Given the description of an element on the screen output the (x, y) to click on. 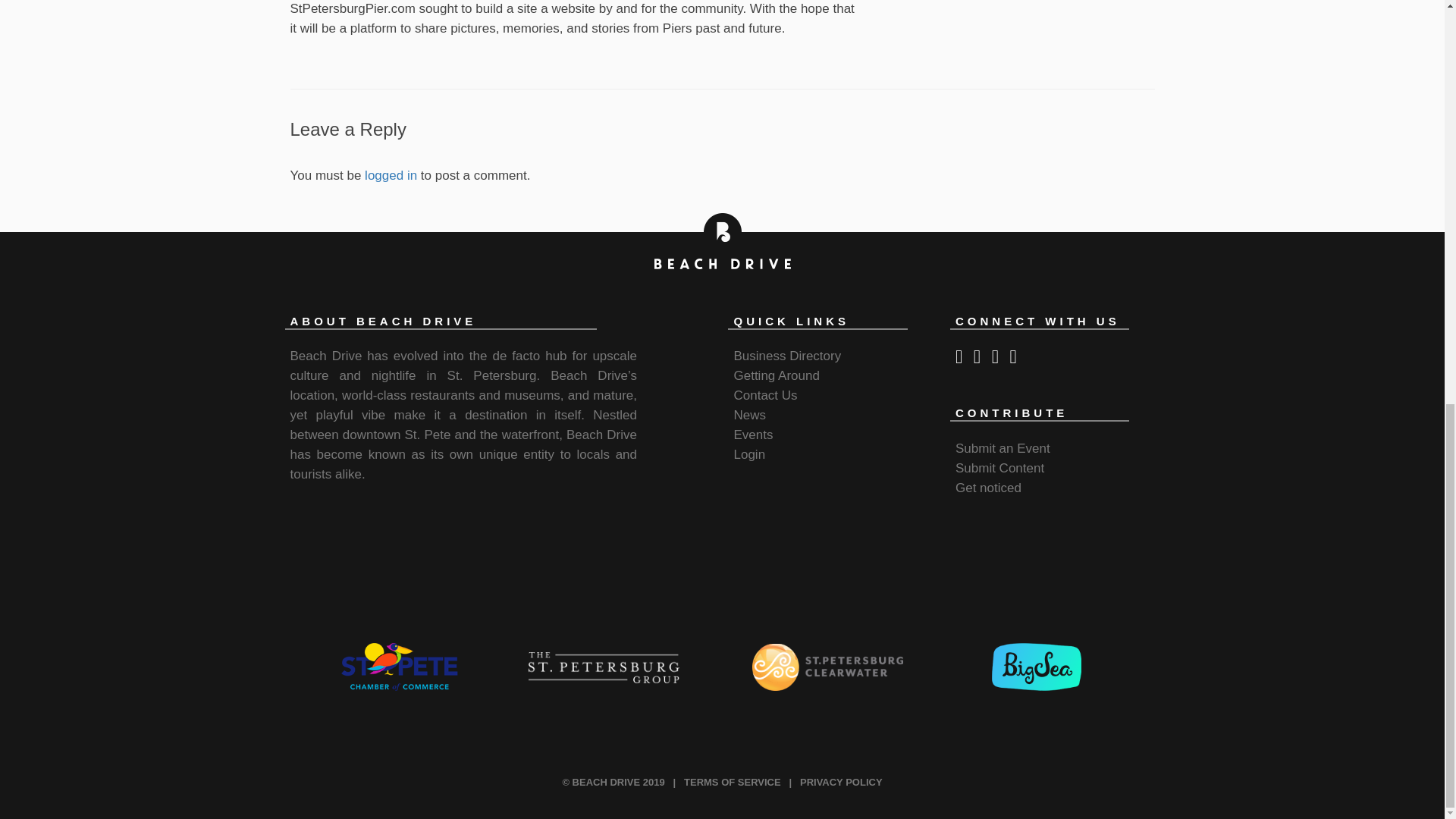
Business Directory (787, 355)
PRIVACY POLICY (840, 781)
Get noticed (988, 487)
Submit an Event (1002, 448)
Login (749, 454)
Submit Content (999, 468)
TERMS OF SERVICE (732, 781)
Events (753, 434)
News (749, 414)
Getting Around (775, 375)
